Given the description of an element on the screen output the (x, y) to click on. 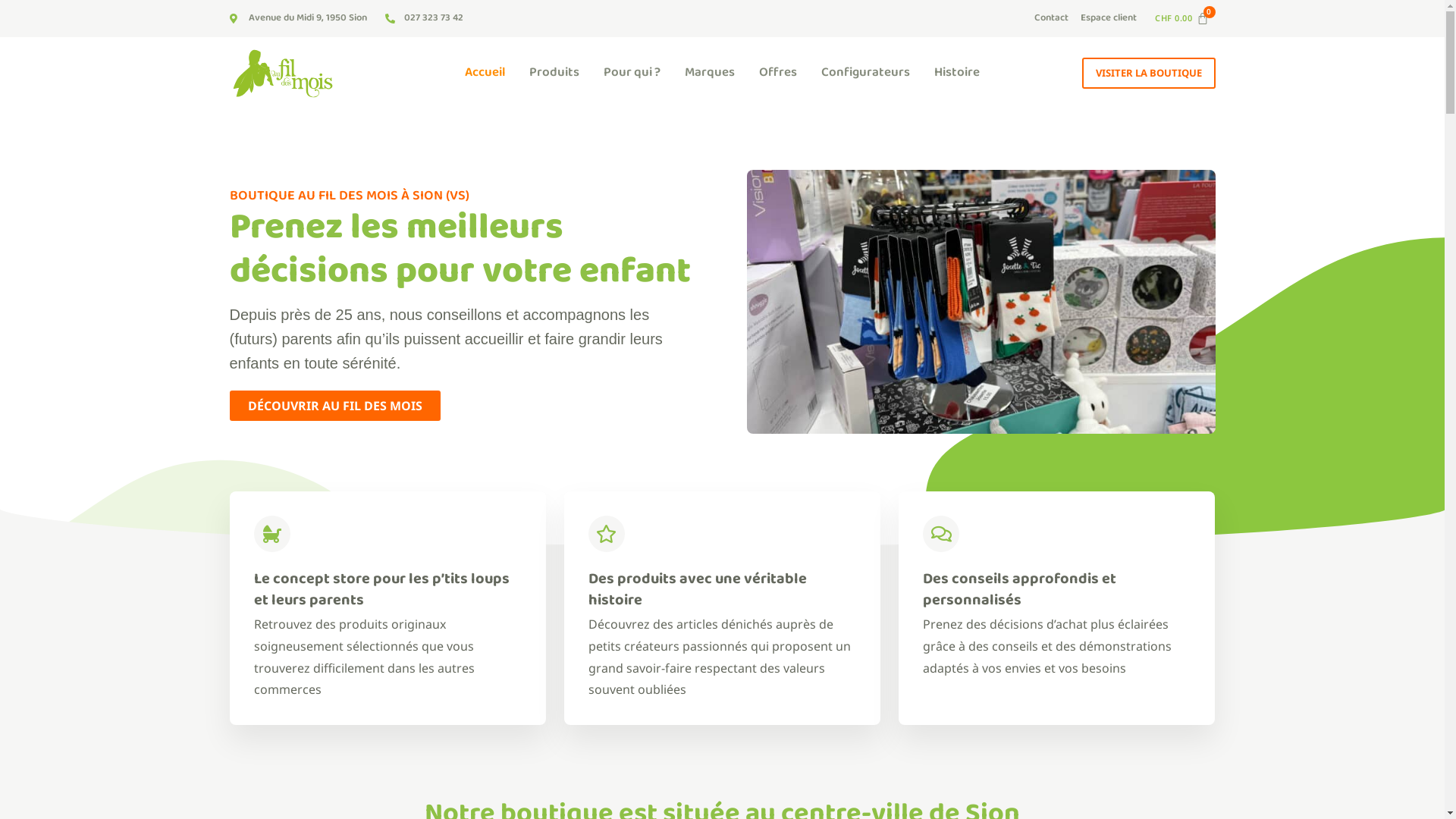
Offres Element type: text (777, 73)
Contact Element type: text (1051, 17)
Histoire Element type: text (956, 73)
Pour qui ? Element type: text (631, 73)
027 323 73 42 Element type: text (424, 18)
CHF 0.00
0 Element type: text (1184, 18)
Accueil Element type: text (484, 73)
Espace client Element type: text (1108, 17)
Marques Element type: text (709, 73)
Avenue du Midi 9, 1950 Sion Element type: text (297, 18)
Produits Element type: text (554, 73)
VISITER LA BOUTIQUE Element type: text (1147, 72)
Configurateurs Element type: text (865, 73)
